Given the description of an element on the screen output the (x, y) to click on. 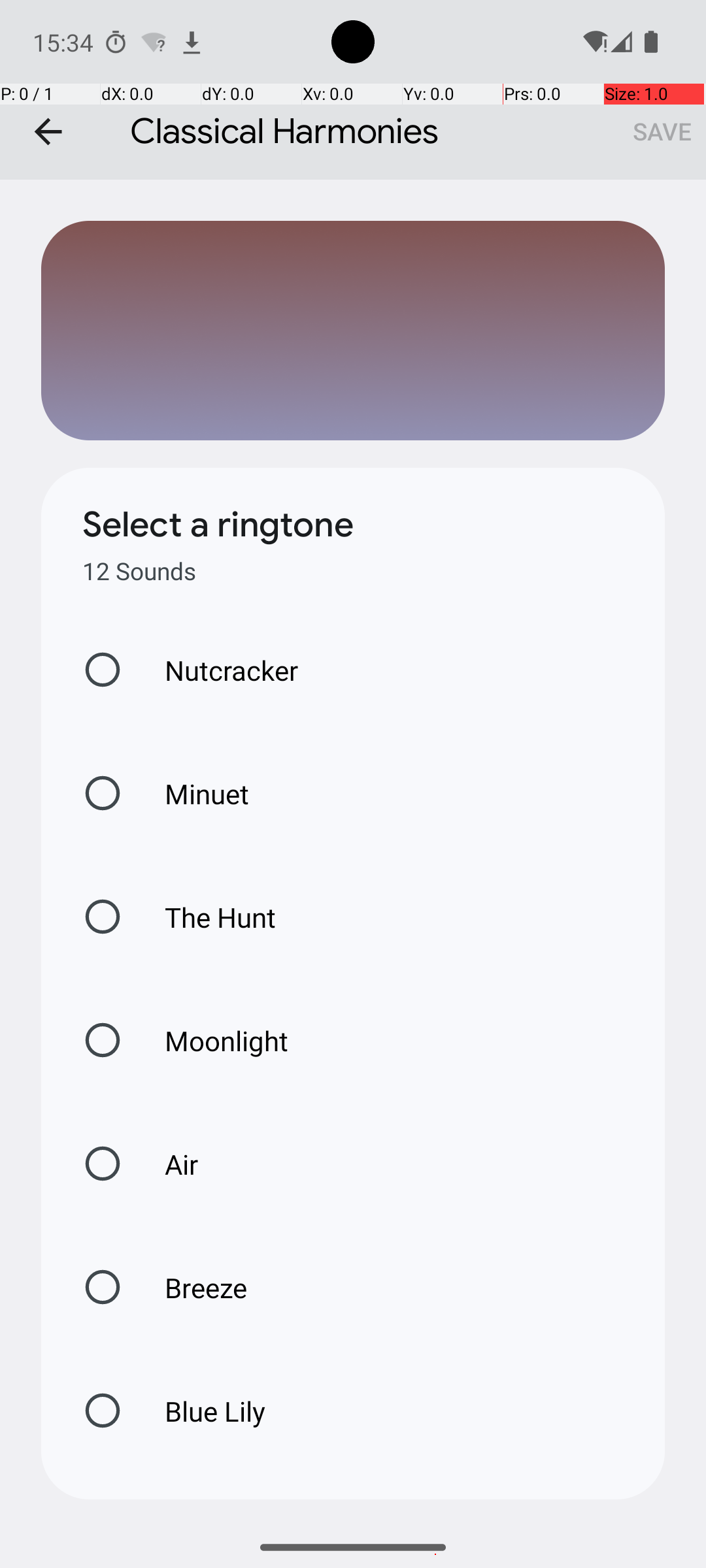
Nutcracker Element type: android.widget.TextView (217, 669)
Minuet Element type: android.widget.TextView (193, 793)
The Hunt Element type: android.widget.TextView (206, 916)
Moonlight Element type: android.widget.TextView (212, 1040)
Air Element type: android.widget.TextView (167, 1163)
Breeze Element type: android.widget.TextView (192, 1287)
Blue Lily Element type: android.widget.TextView (201, 1410)
